Given the description of an element on the screen output the (x, y) to click on. 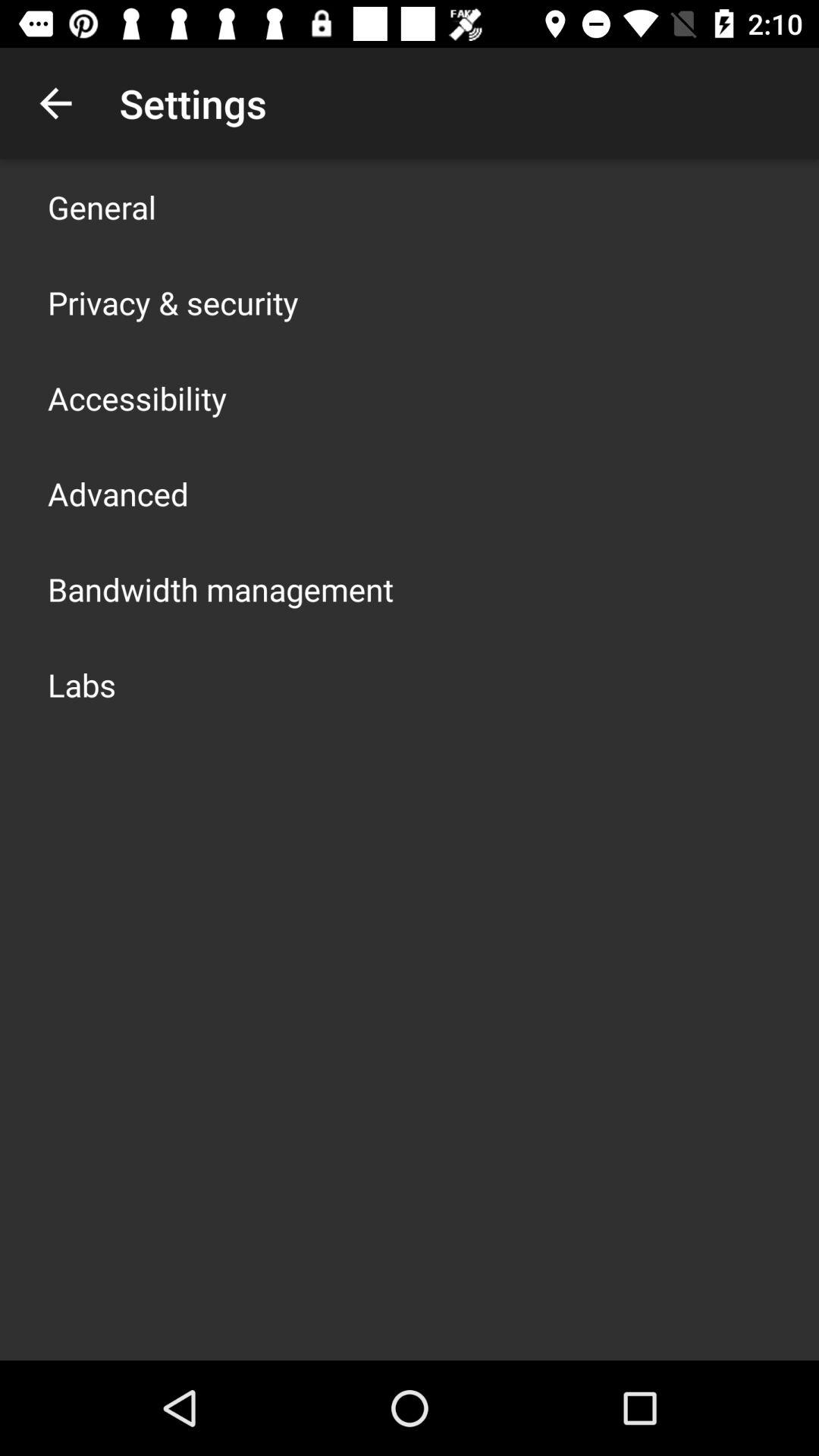
press the privacy & security icon (172, 302)
